Given the description of an element on the screen output the (x, y) to click on. 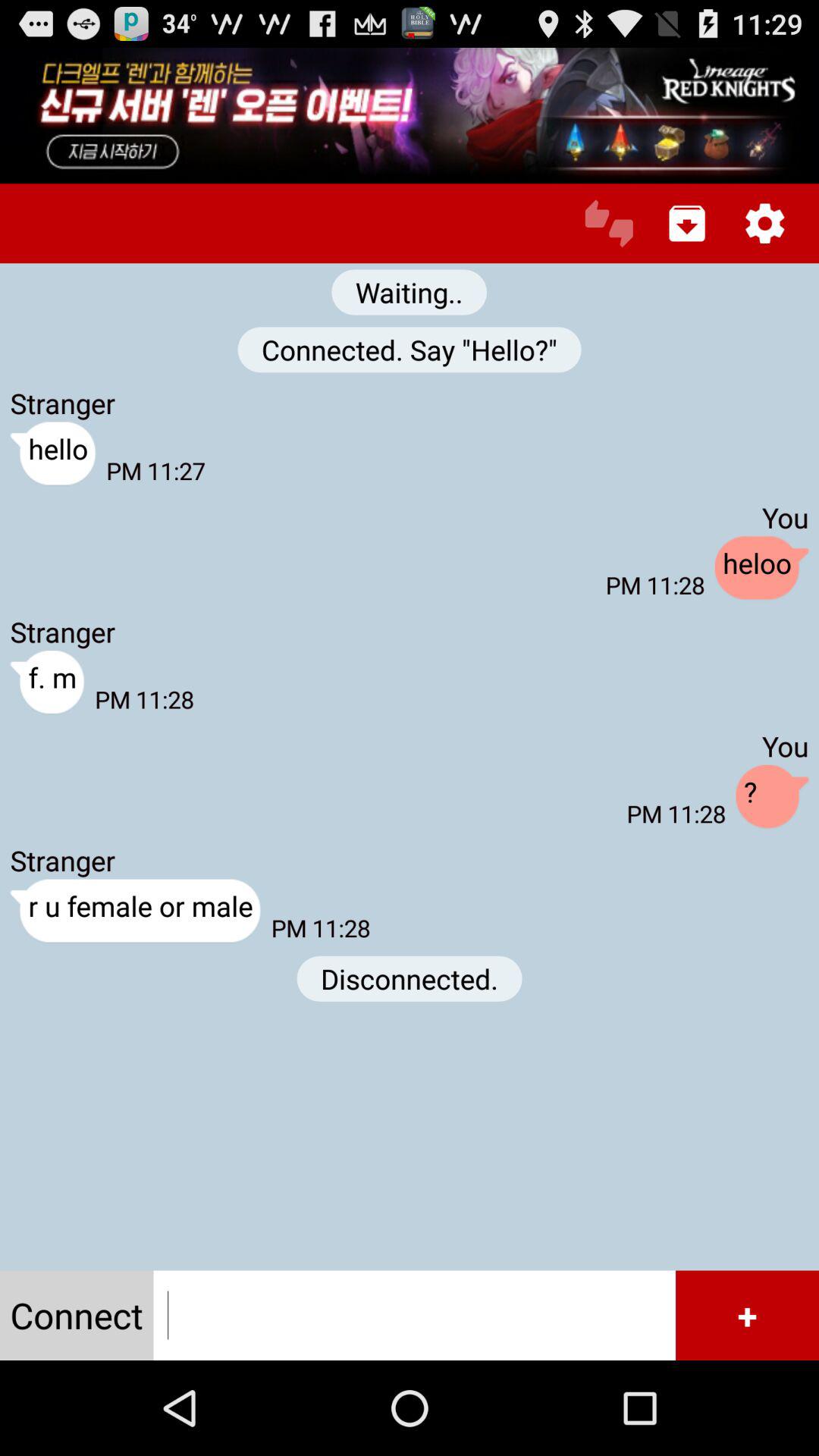
tap the item below the stranger item (135, 911)
